Given the description of an element on the screen output the (x, y) to click on. 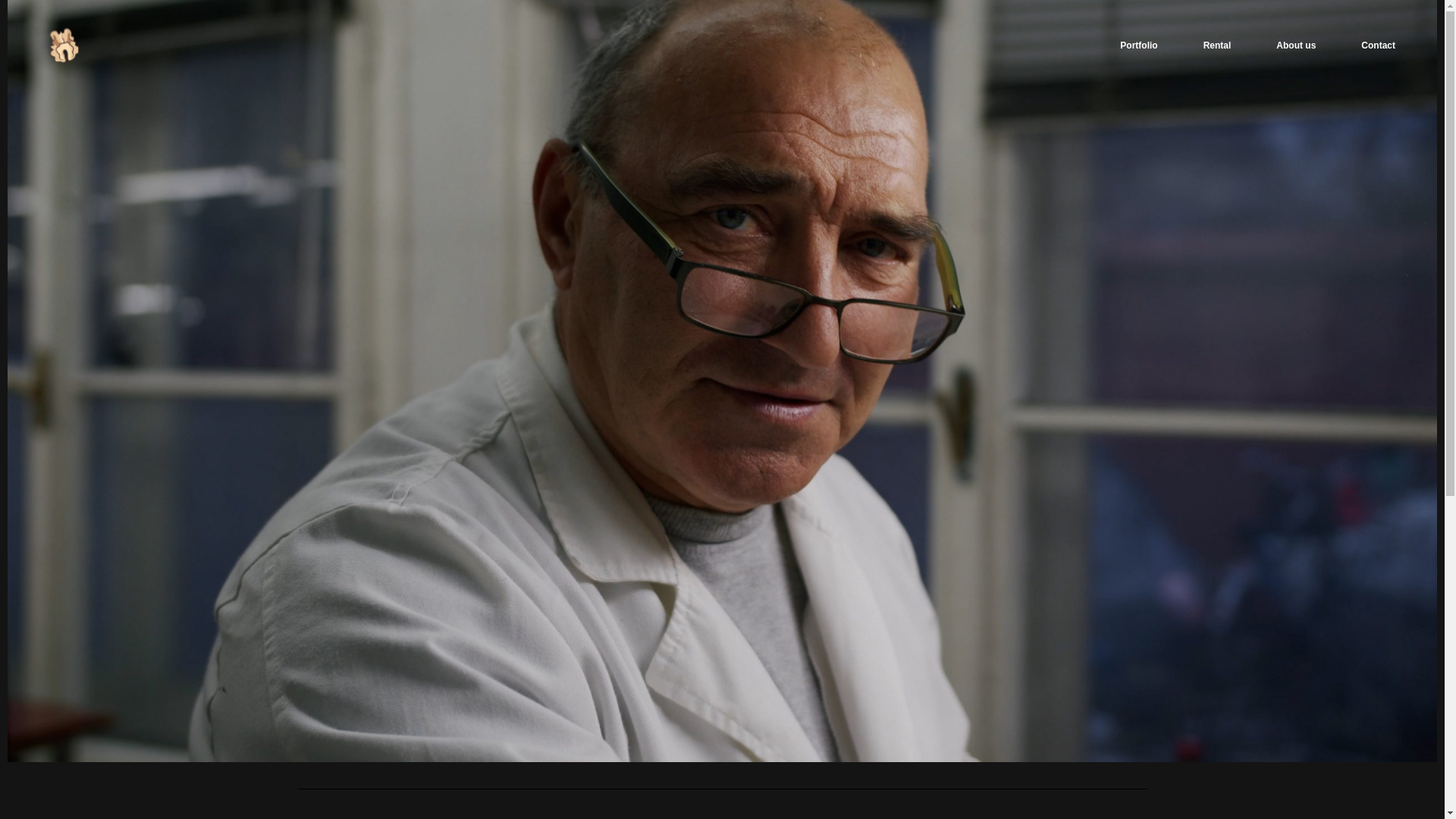
Contact (1377, 45)
Portfolio (1138, 45)
About us (1295, 45)
Rental (1216, 45)
